Given the description of an element on the screen output the (x, y) to click on. 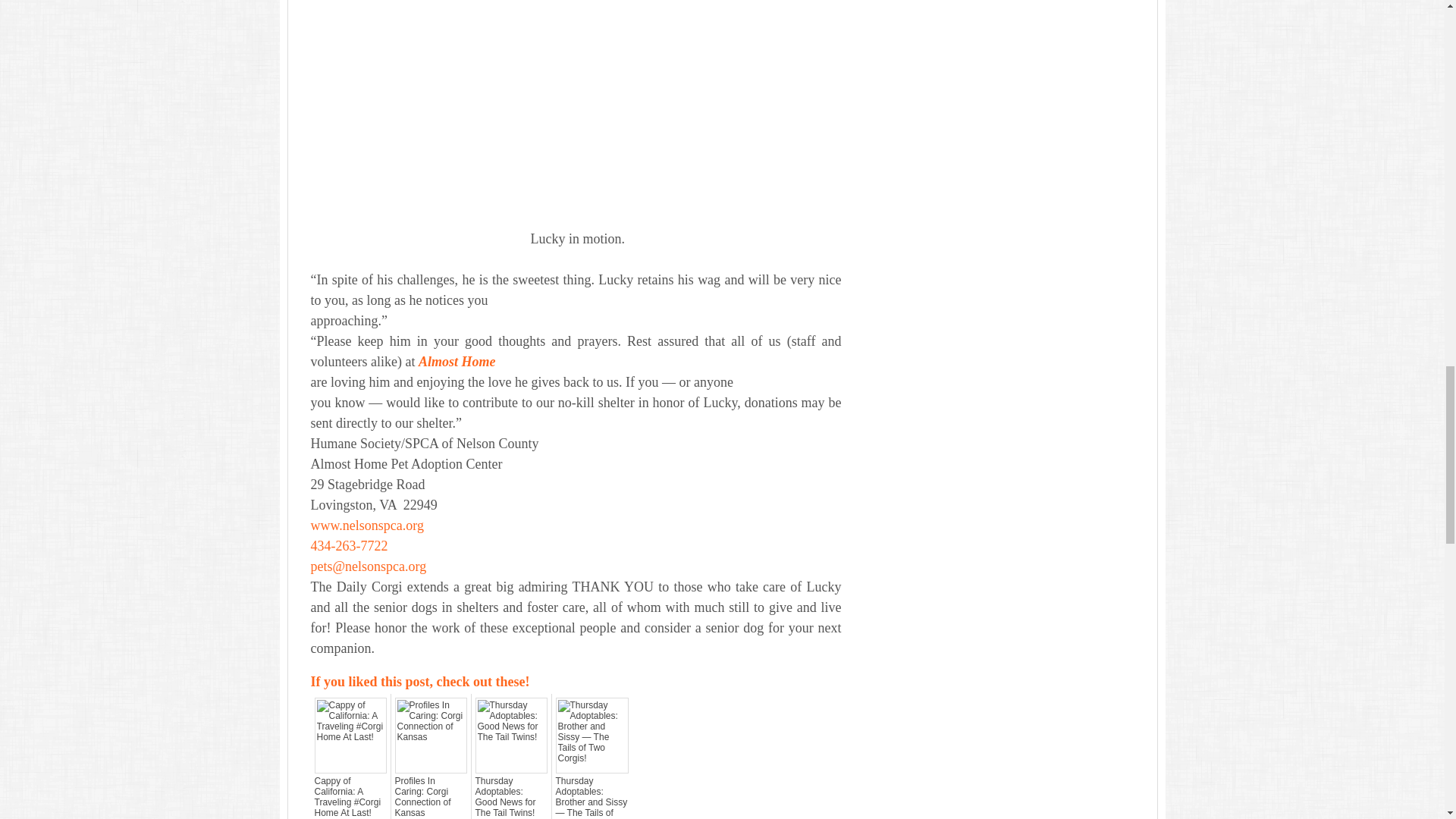
Profiles In Caring: Corgi Connection of Kansas (429, 796)
www.nelsonspca.org (367, 525)
434-263-7722 (349, 545)
Almost Home (457, 361)
Thursday Adoptables: Good News for The Tail Twins! (510, 796)
